Given the description of an element on the screen output the (x, y) to click on. 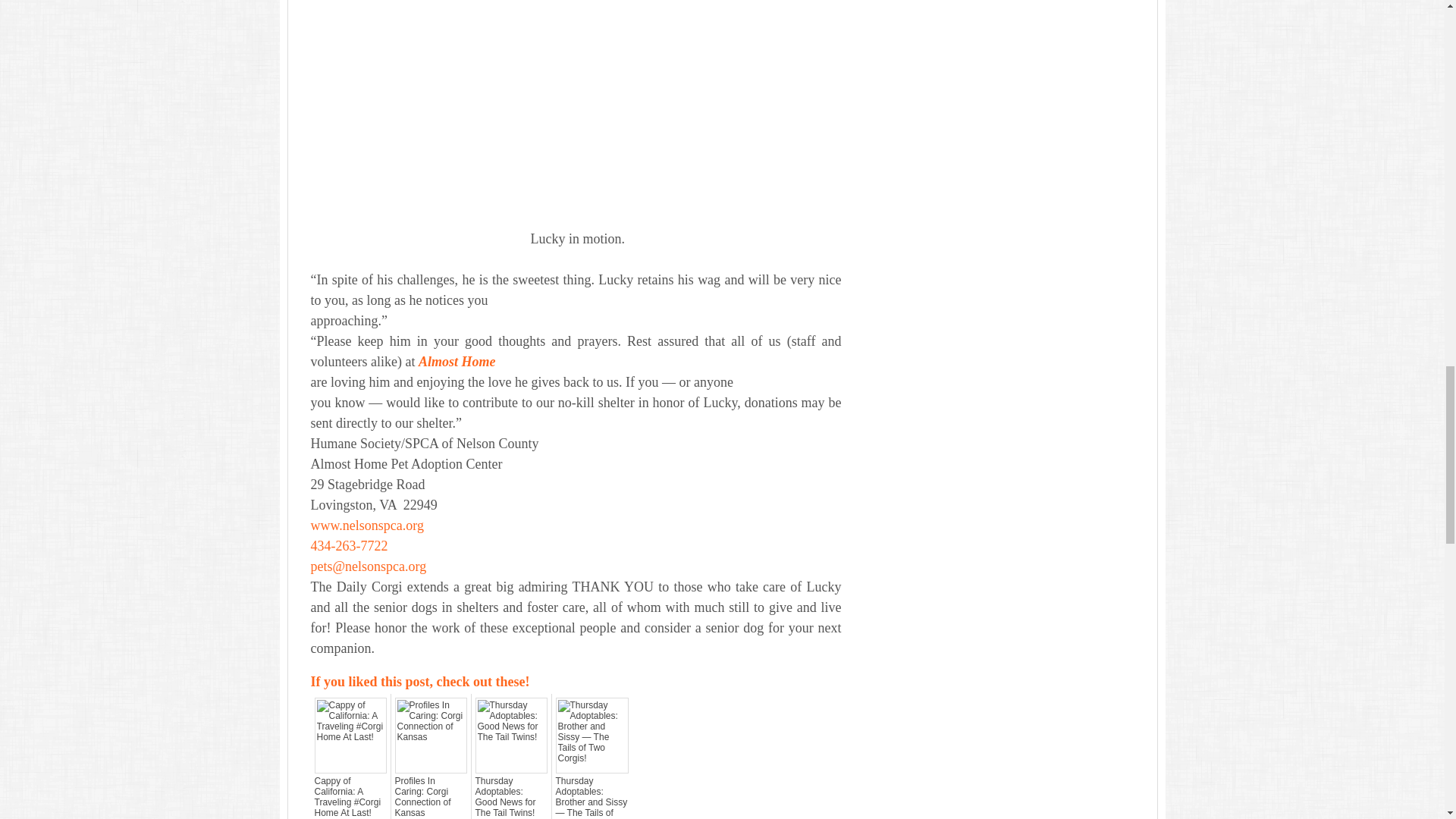
Profiles In Caring: Corgi Connection of Kansas (429, 796)
www.nelsonspca.org (367, 525)
434-263-7722 (349, 545)
Almost Home (457, 361)
Thursday Adoptables: Good News for The Tail Twins! (510, 796)
